Given the description of an element on the screen output the (x, y) to click on. 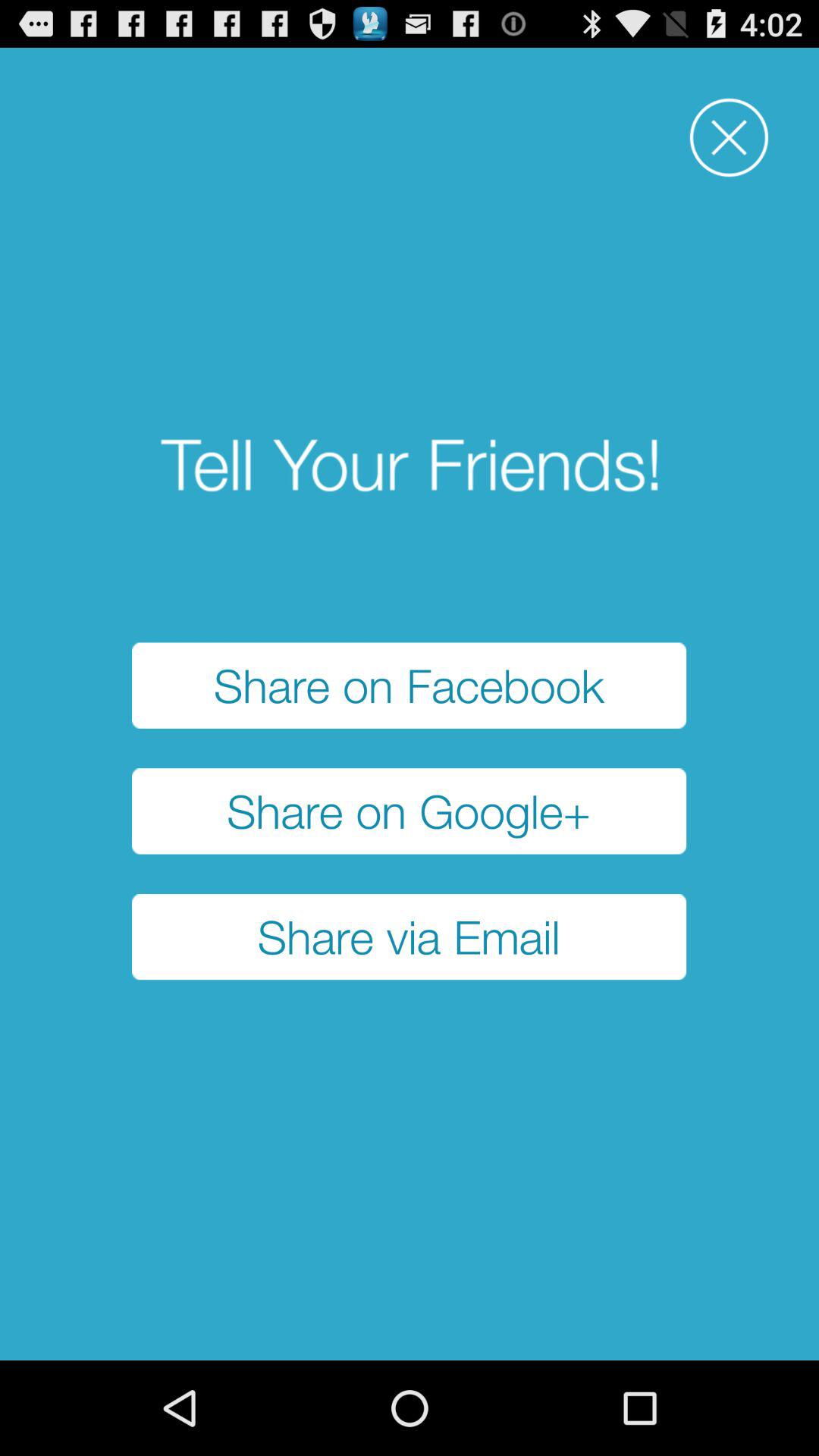
closes out of the current pop-up (728, 137)
